Given the description of an element on the screen output the (x, y) to click on. 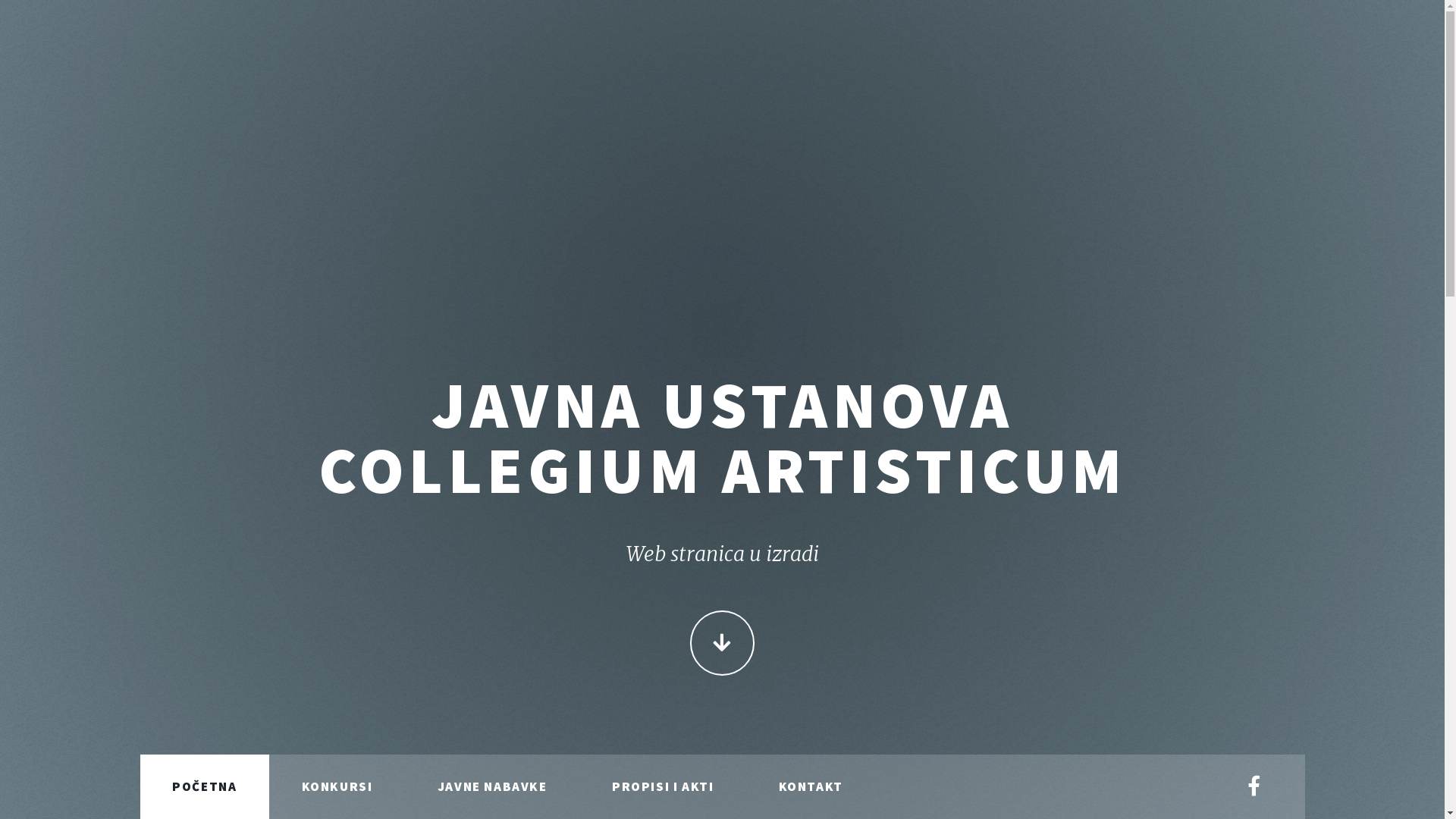
CONTINUE Element type: text (722, 642)
